Given the description of an element on the screen output the (x, y) to click on. 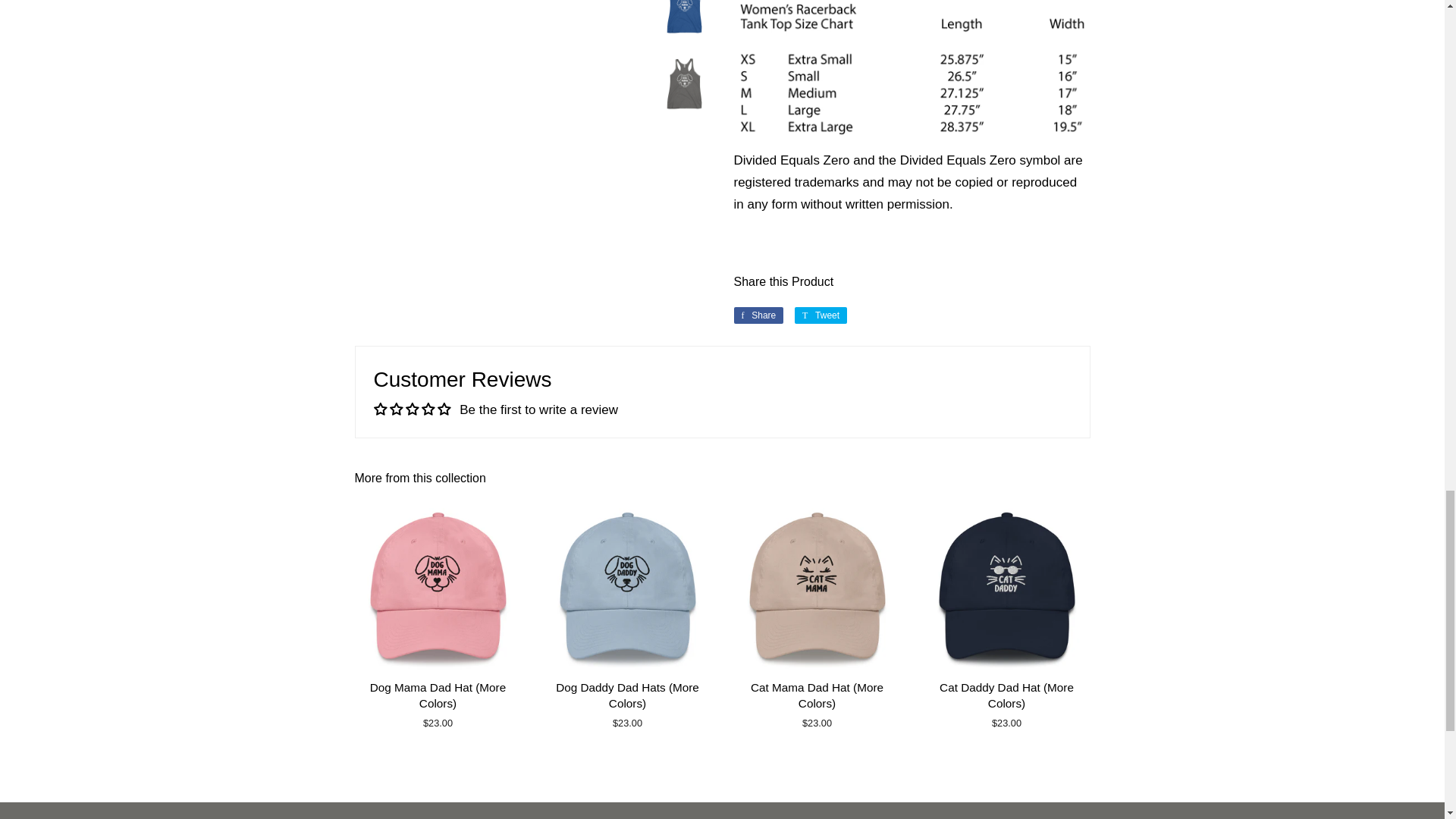
Share on Facebook (758, 315)
Tweet on Twitter (820, 315)
